Given the description of an element on the screen output the (x, y) to click on. 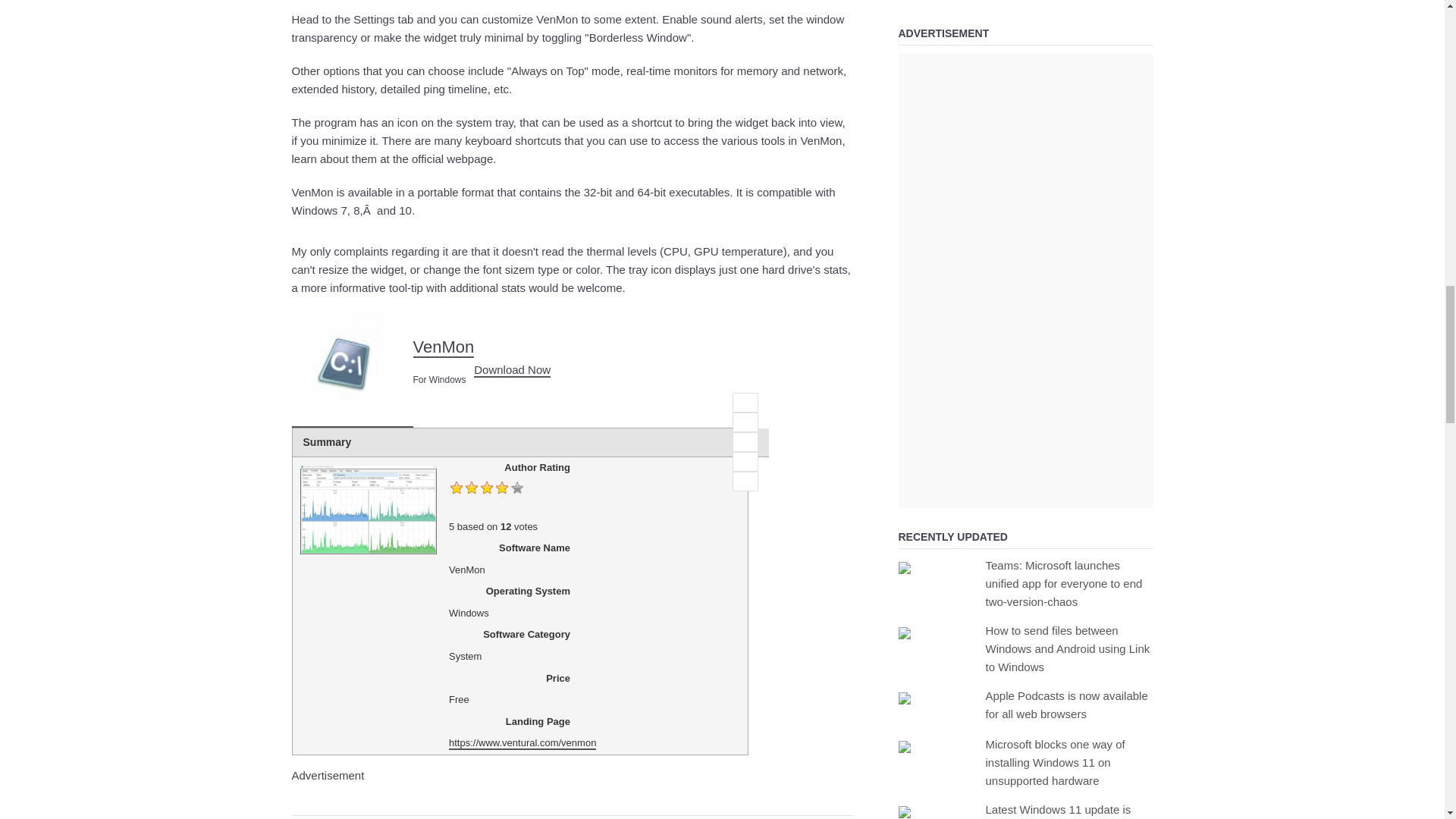
1 (745, 402)
3 (745, 442)
4 (745, 461)
VenMon (347, 368)
VenMon (512, 370)
5 (745, 481)
2 (745, 422)
VenMon (443, 347)
VenMon (351, 369)
